Given the description of an element on the screen output the (x, y) to click on. 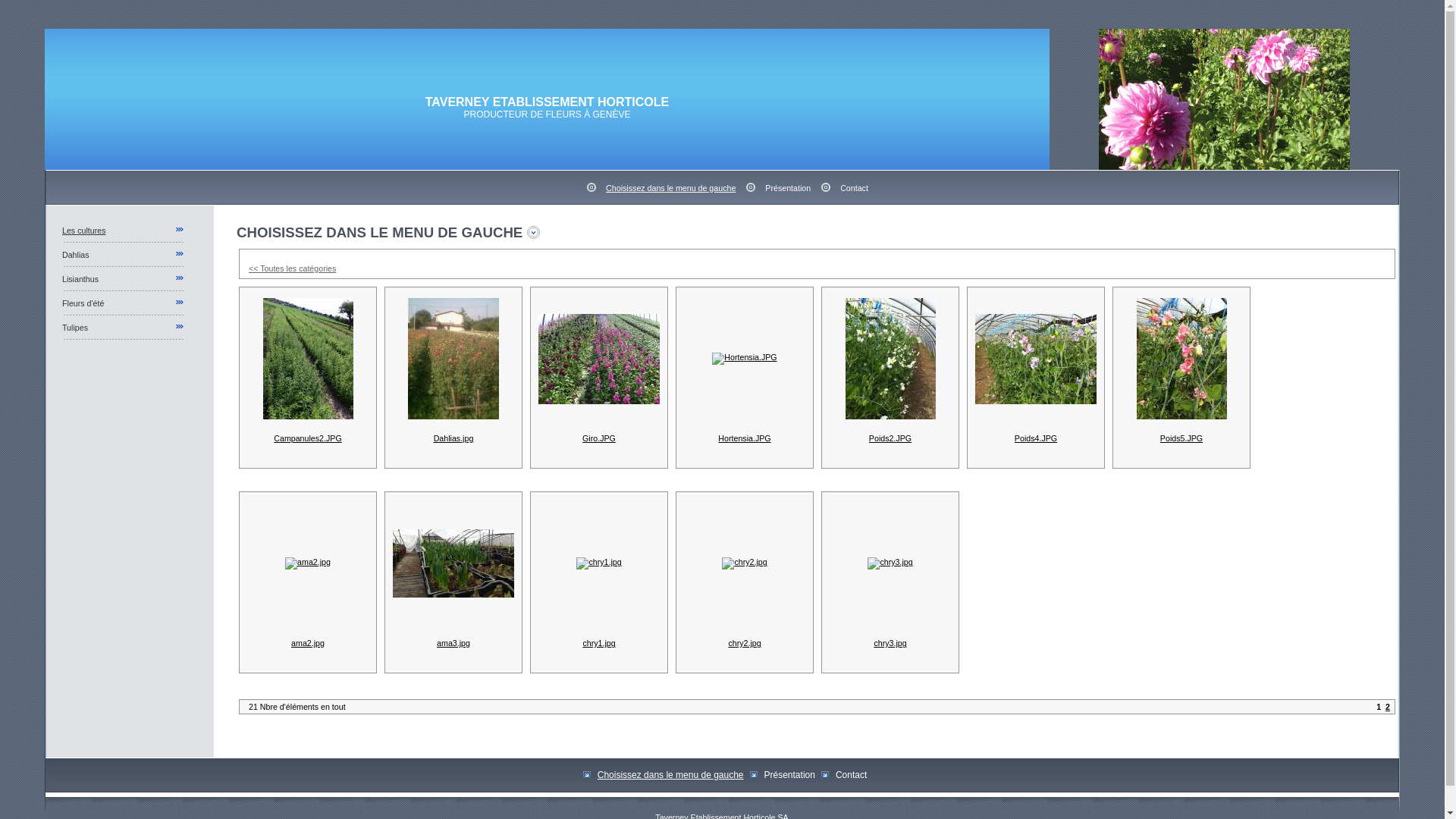
Hortensia.JPG Element type: text (744, 437)
ama3.jpg Element type: text (453, 642)
chry2.jpg Element type: text (744, 642)
Poids2.JPG Element type: text (890, 437)
Lisianthus Element type: text (80, 277)
ama2.jpg Element type: text (307, 642)
Campanules2.JPG Element type: text (307, 437)
Poids5.JPG Element type: text (1181, 437)
chry1.jpg Element type: text (598, 642)
chry3.jpg Element type: text (889, 642)
Poids4.JPG Element type: text (1035, 437)
Dahlias Element type: text (75, 253)
Choisissez dans le menu de gauche Element type: text (670, 774)
2 Element type: text (1387, 706)
Contact Element type: text (854, 187)
Giro.JPG Element type: text (598, 437)
Tulipes Element type: text (74, 326)
Dahlias.jpg Element type: text (453, 437)
Contact Element type: text (850, 774)
Choisissez dans le menu de gauche Element type: text (670, 187)
